Given the description of an element on the screen output the (x, y) to click on. 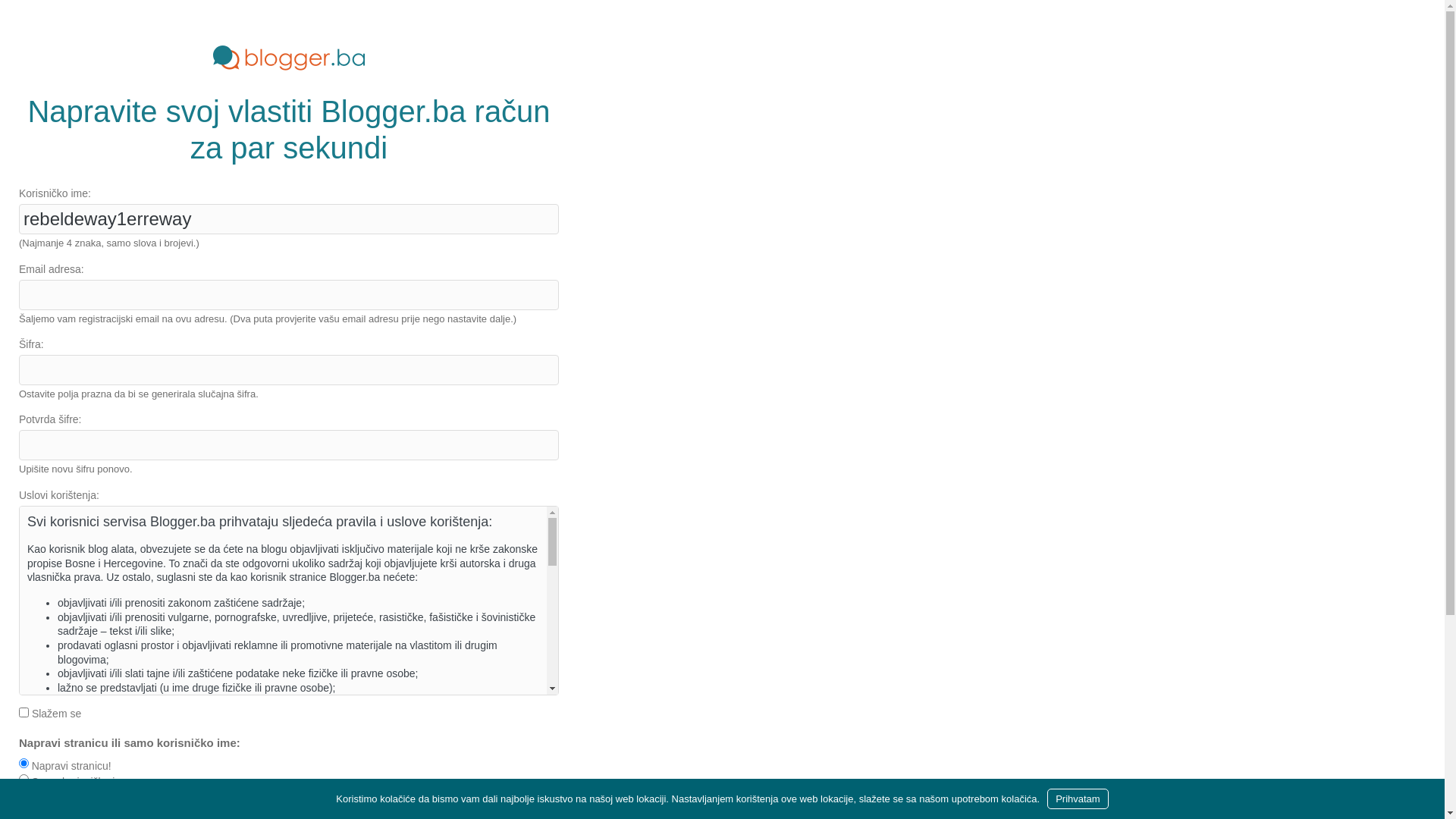
Prihvatam Element type: text (1077, 798)
